Given the description of an element on the screen output the (x, y) to click on. 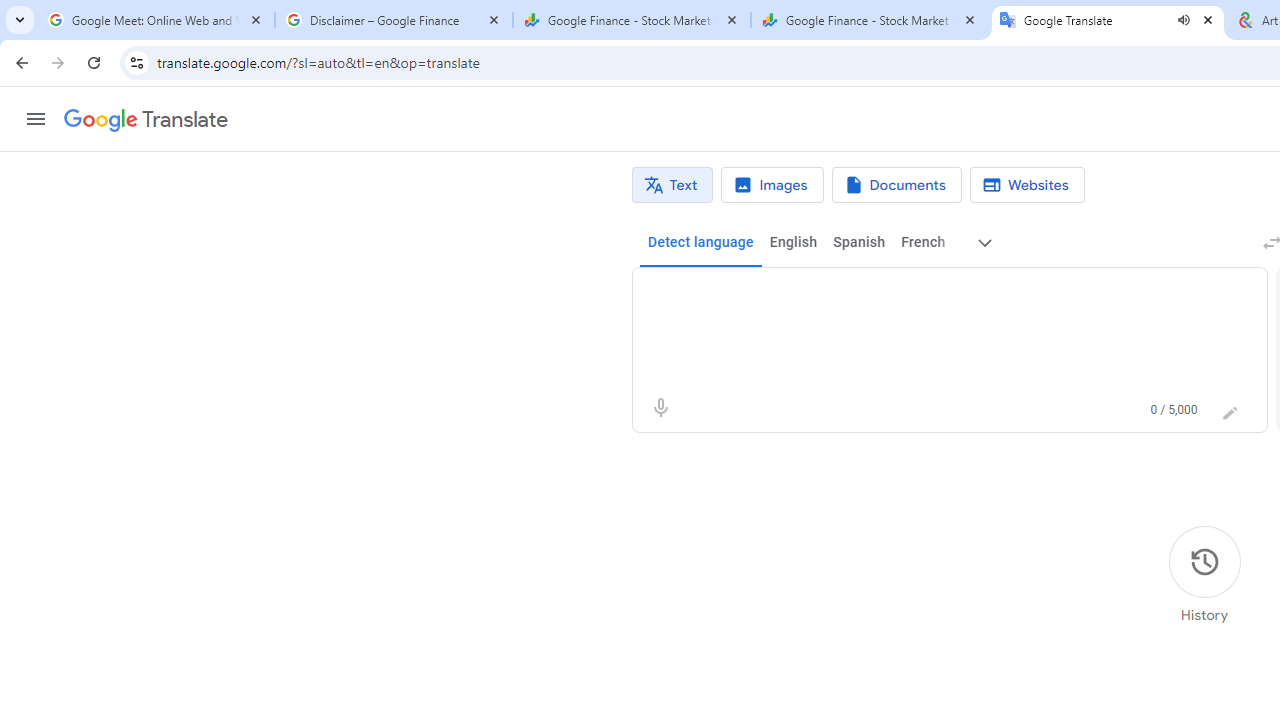
Image translation (772, 185)
Document translation (896, 185)
Website translation (1026, 185)
Source text (930, 295)
Spanish (858, 242)
Translate by voice (660, 407)
More source languages (985, 242)
Detect language (699, 242)
Main menu (35, 119)
